Given the description of an element on the screen output the (x, y) to click on. 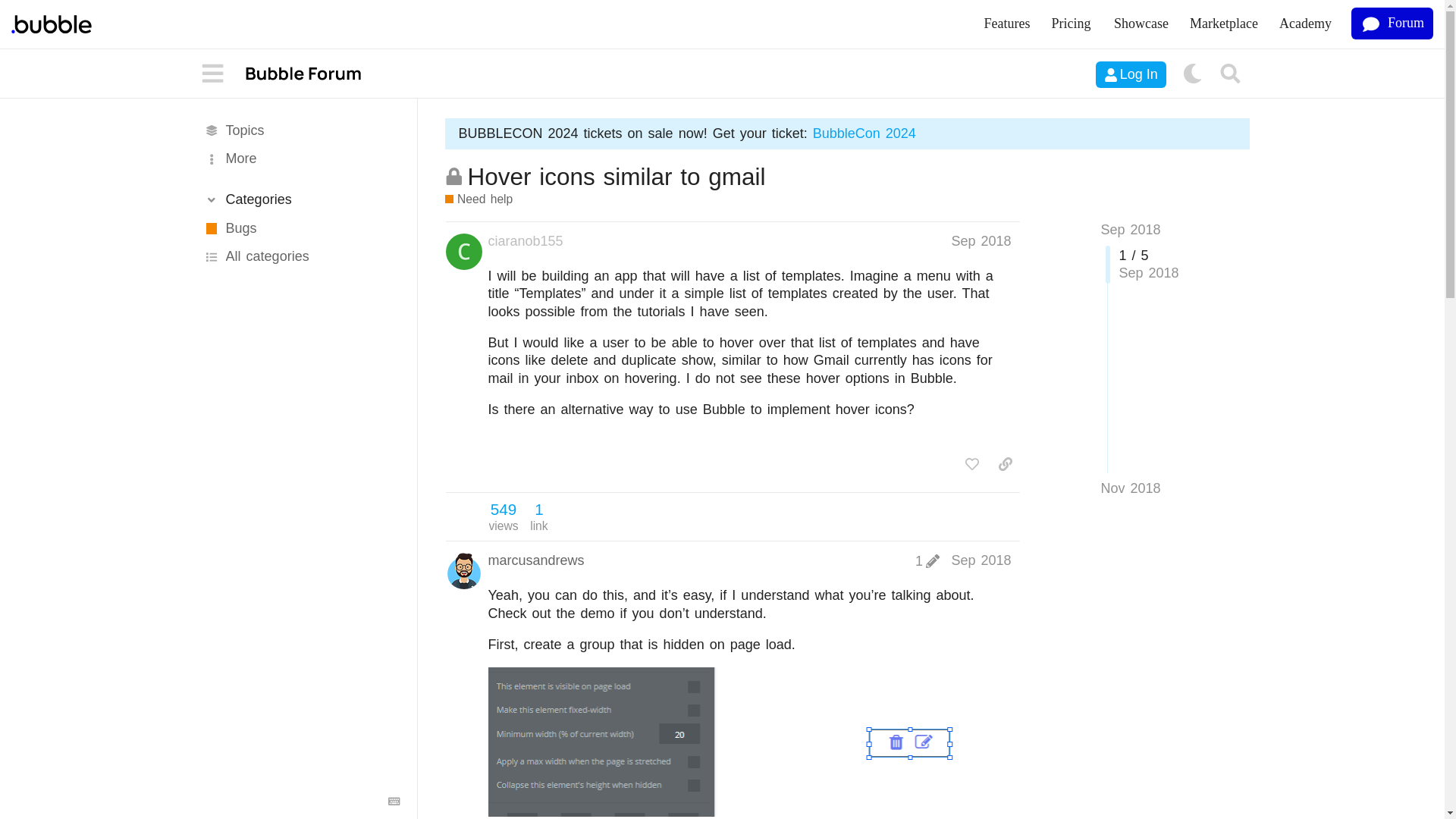
Features (1007, 24)
BubbleCon 2024 (863, 133)
Nov 2018 (1130, 488)
Keyboard Shortcuts (394, 801)
Sidebar (213, 73)
Academy (1304, 24)
Jump to the last post (1130, 488)
ciaranob155 (525, 241)
More (300, 158)
marcusandrews (536, 560)
